Given the description of an element on the screen output the (x, y) to click on. 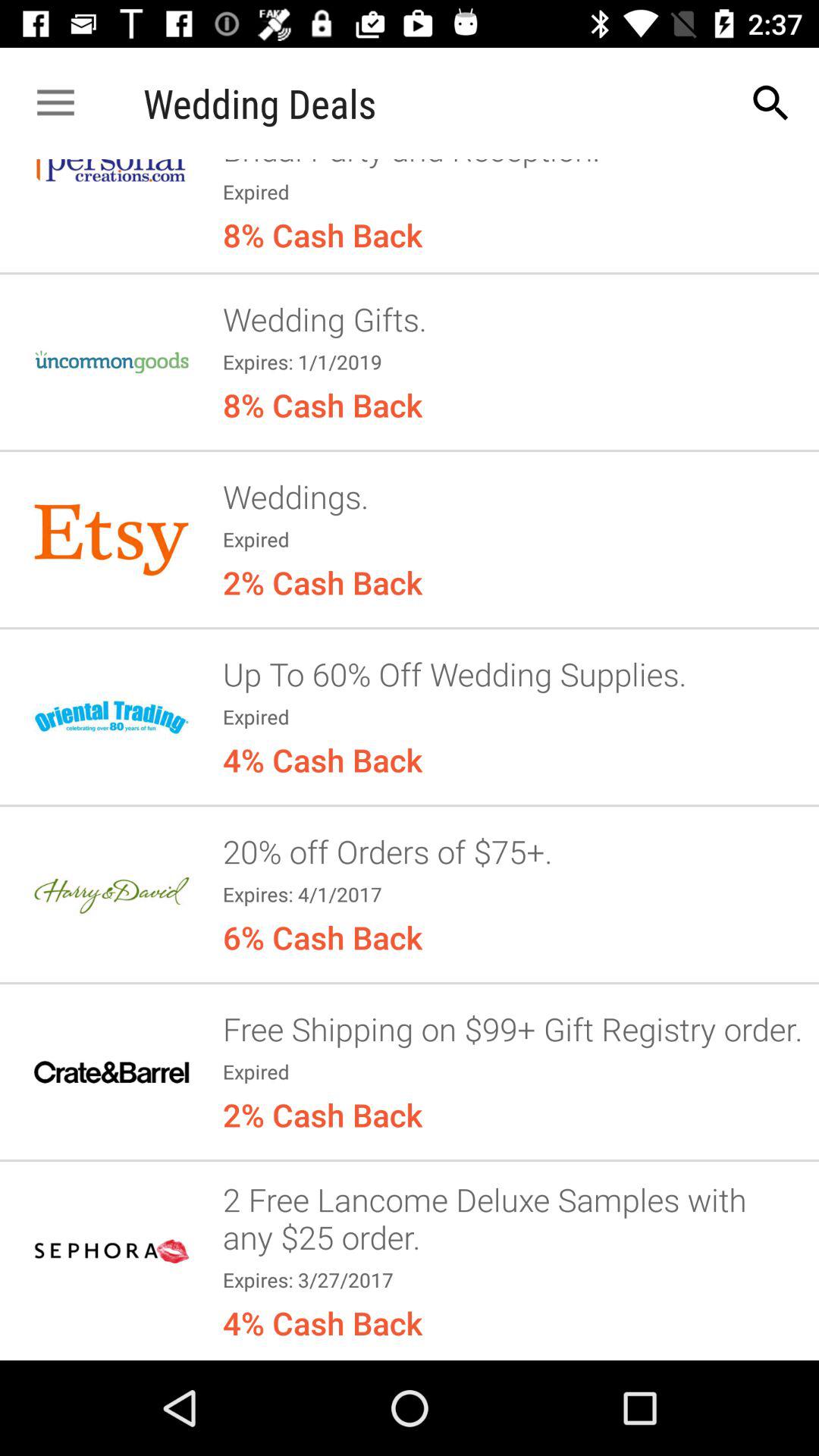
click app to the left of wedding deals (55, 103)
